Given the description of an element on the screen output the (x, y) to click on. 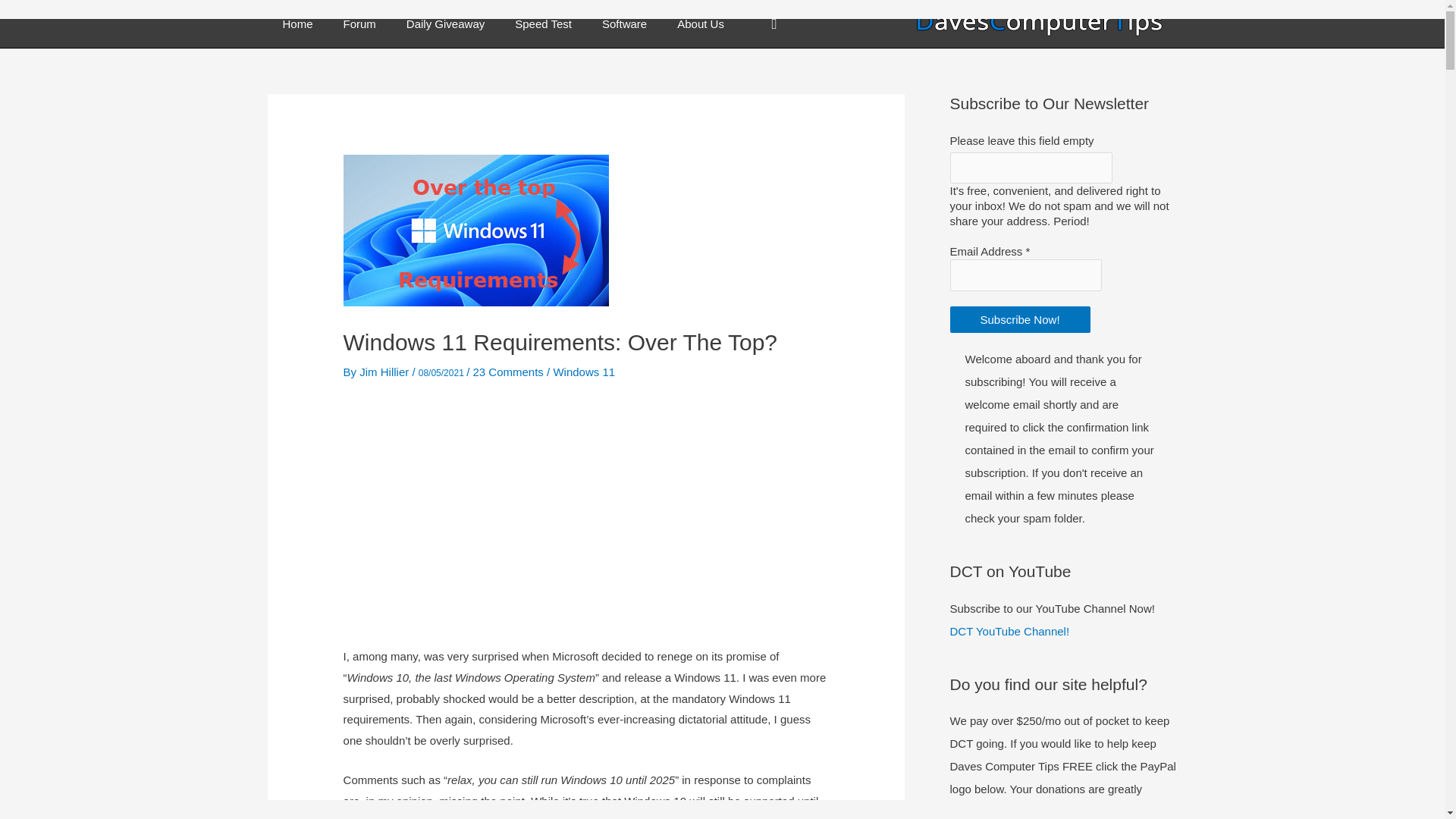
Home (296, 23)
Forum (360, 23)
About Us (700, 23)
3rd party ad content (585, 524)
Daily Giveaway (445, 23)
View all posts by Jim Hillier (385, 371)
Speed Test (542, 23)
Software (624, 23)
Email Address (1024, 275)
Subscribe Now! (1019, 319)
